Given the description of an element on the screen output the (x, y) to click on. 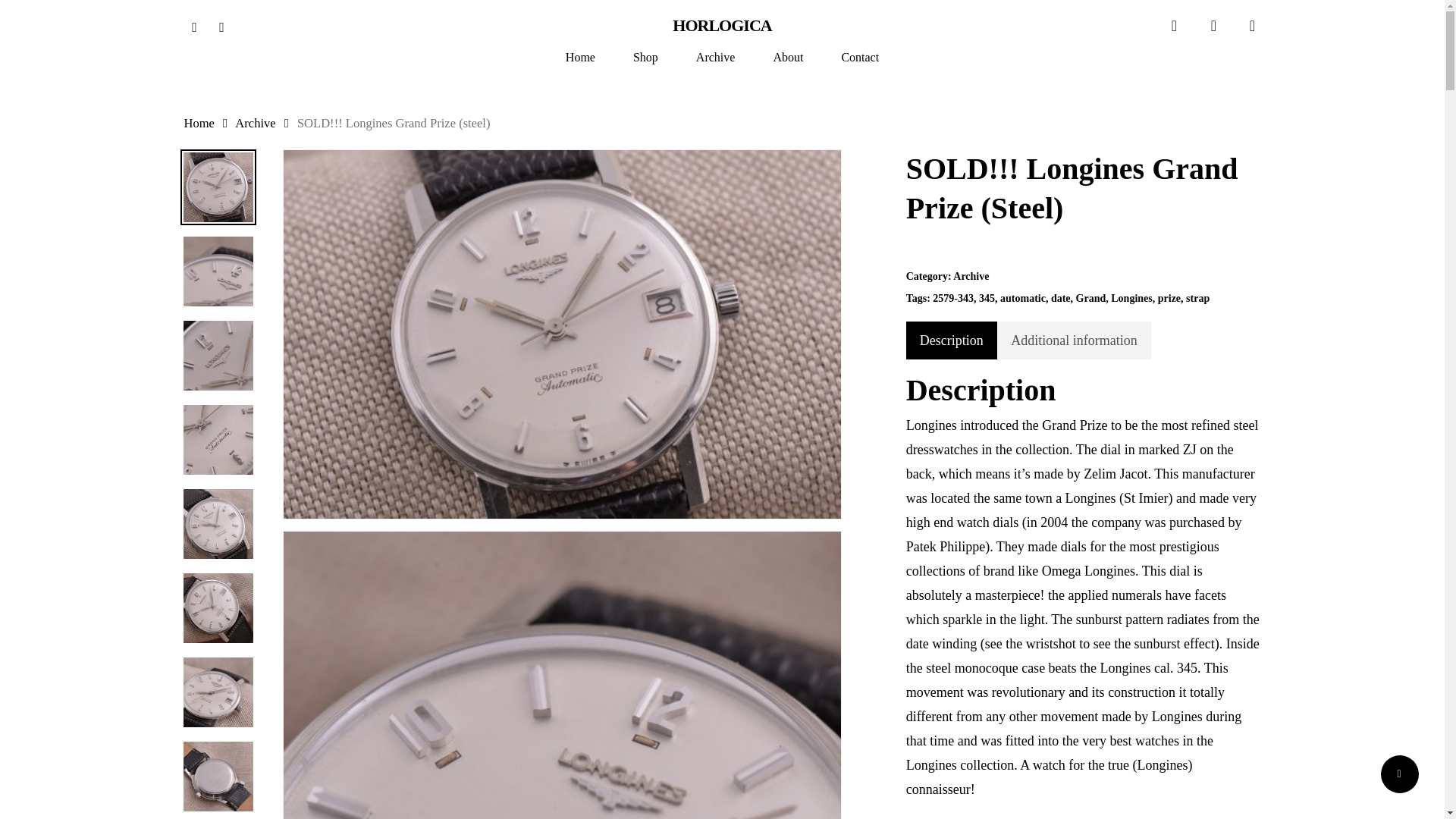
Facebook (194, 25)
search (1173, 26)
Shop (645, 57)
Contact (860, 57)
Home (580, 57)
Archive (254, 123)
Archive (715, 57)
Instagram (221, 25)
HORLOGICA (721, 25)
account (1213, 26)
Home (198, 123)
About (788, 57)
